Given the description of an element on the screen output the (x, y) to click on. 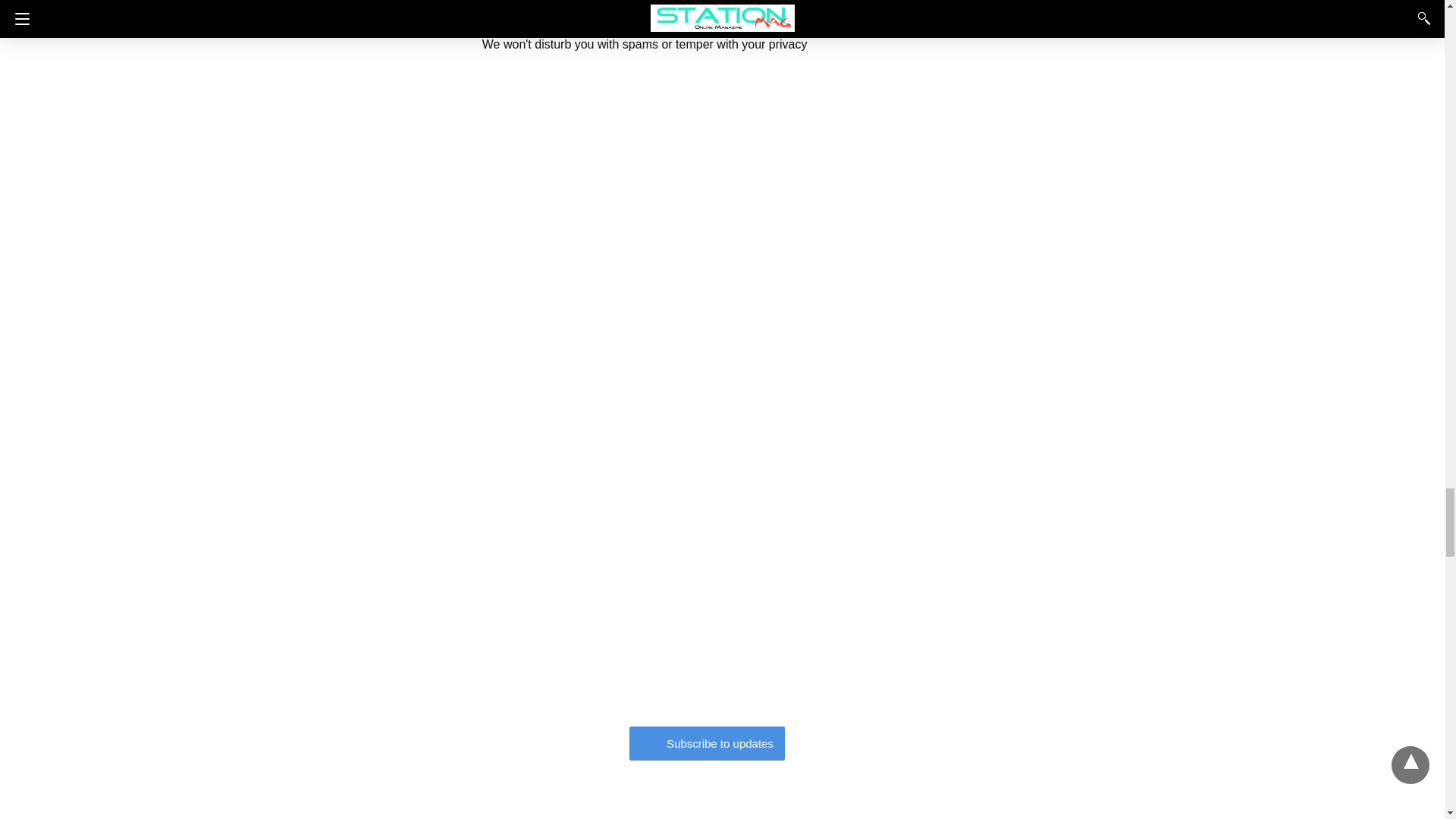
Subscribe to updates (706, 743)
Get a Copy Now  (396, 13)
Get a Copy Now  (396, 13)
